Given the description of an element on the screen output the (x, y) to click on. 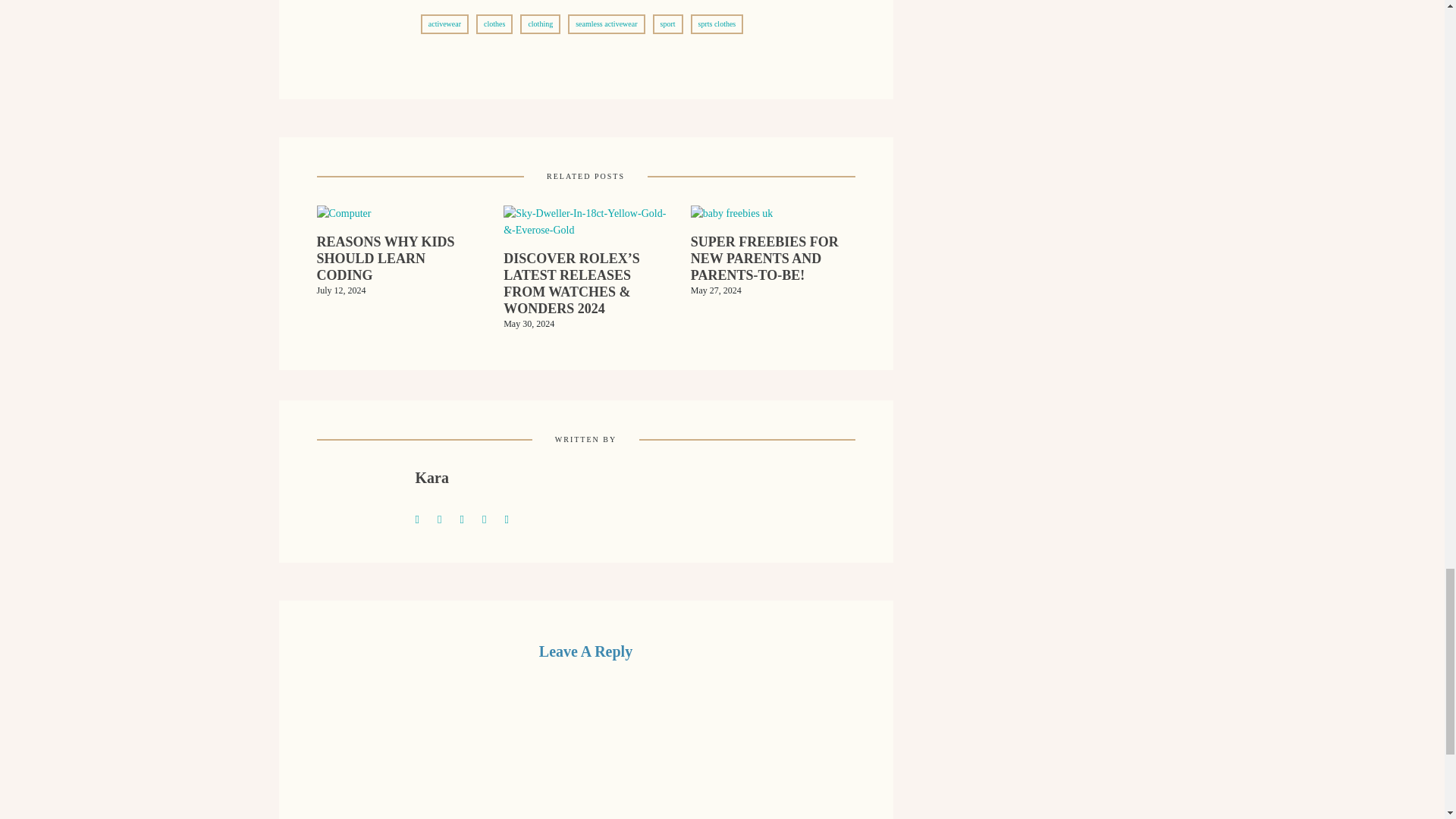
Super Freebies For New Parents And Parents-To-Be! (731, 218)
Super Freebies For New Parents And Parents-To-Be! (773, 268)
The Definitive Guide to Seamless Activewear (446, 517)
Comment Form (585, 749)
